Given the description of an element on the screen output the (x, y) to click on. 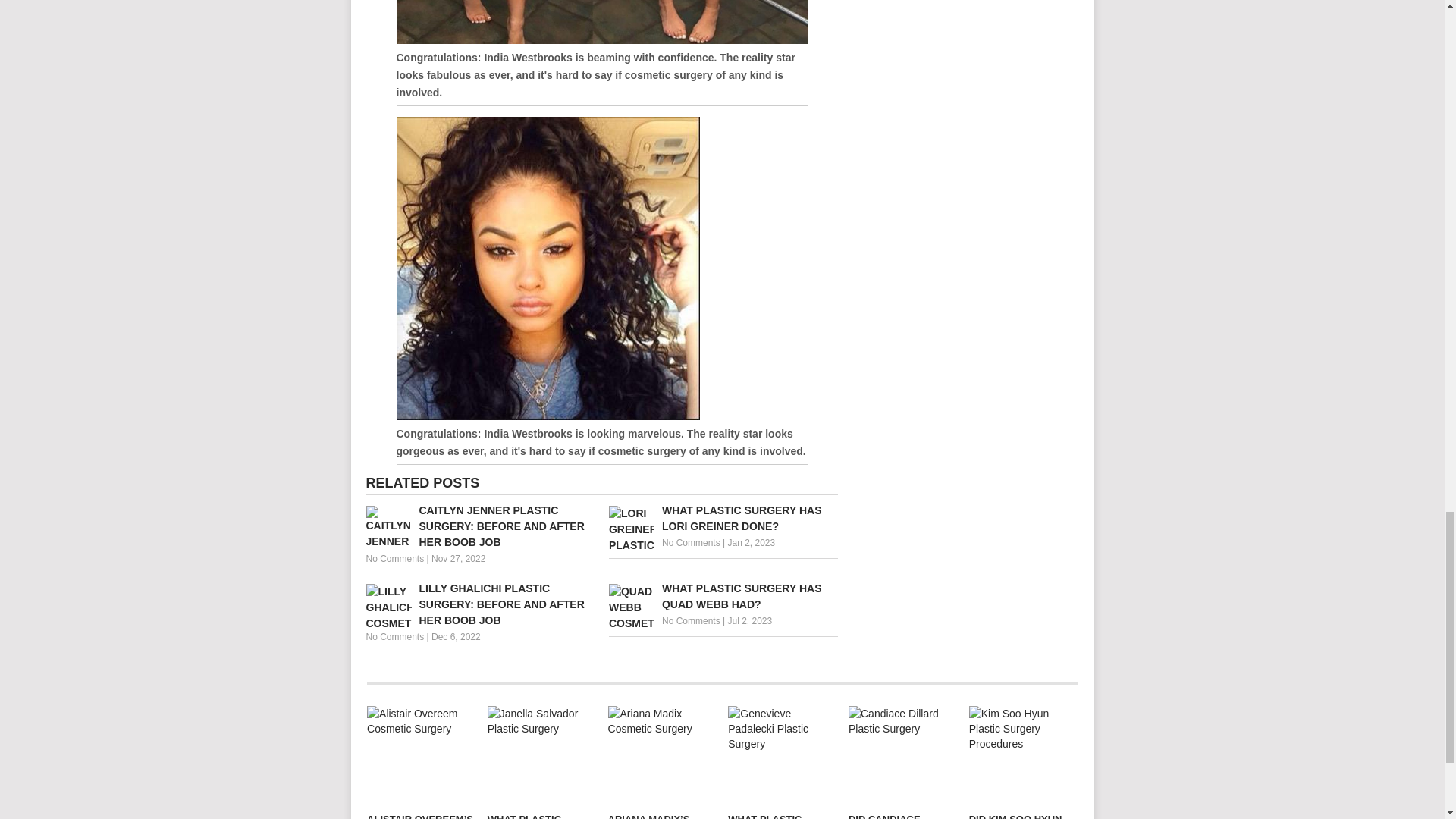
What Plastic Surgery Has Janella Salvador Gotten? (540, 754)
No Comments (691, 620)
WHAT PLASTIC SURGERY HAS LORI GREINER DONE? (723, 518)
WHAT PLASTIC SURGERY HAS QUAD WEBB HAD? (723, 596)
No Comments (691, 542)
No Comments (394, 558)
What Plastic Surgery Has Quad Webb Had? (723, 596)
No Comments (394, 636)
What Plastic Surgery Has Lori Greiner Done? (723, 518)
